Given the description of an element on the screen output the (x, y) to click on. 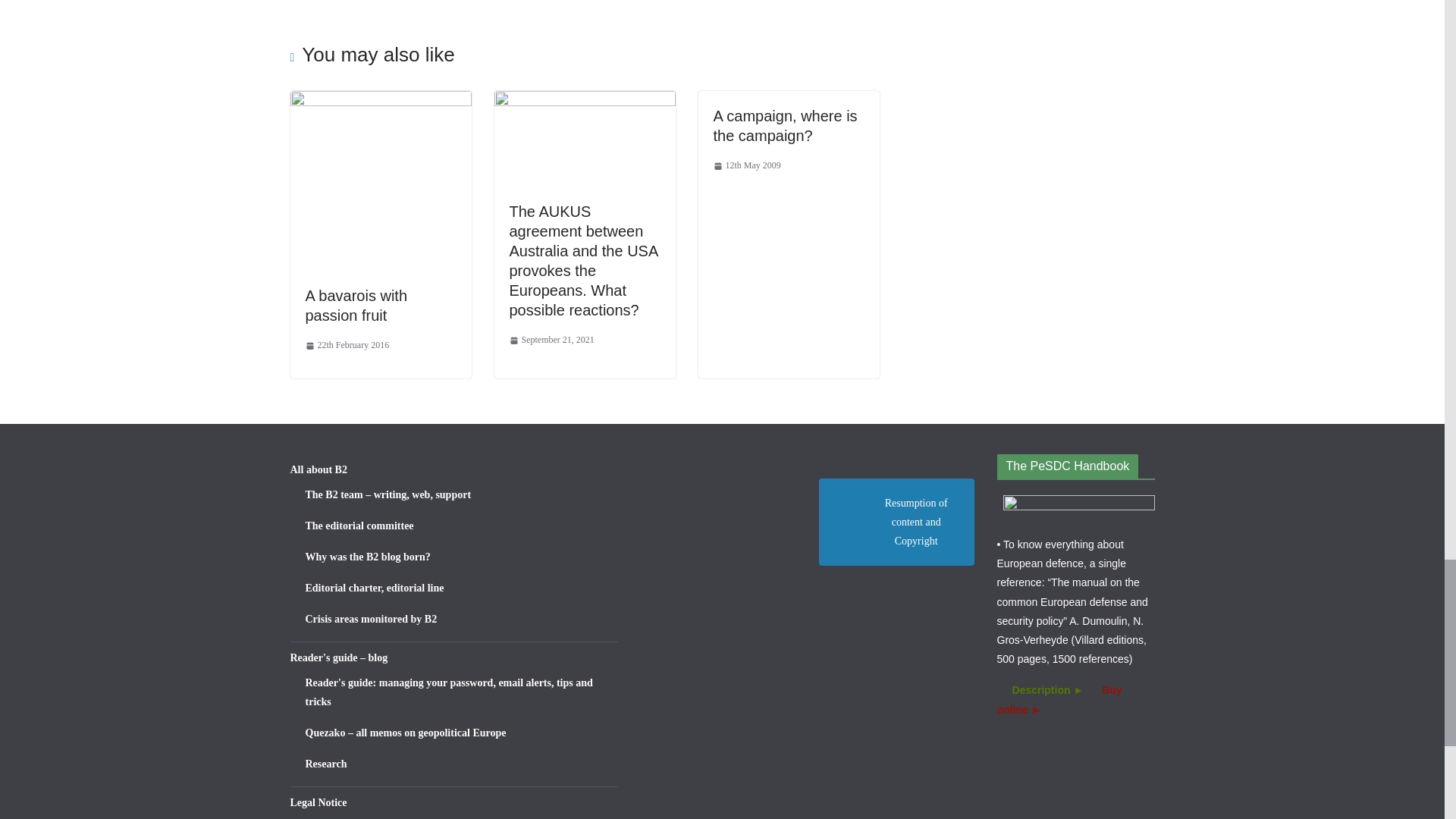
A bavarois with passion fruit (379, 101)
05:45 (346, 345)
A bavarois with passion fruit (355, 305)
